Given the description of an element on the screen output the (x, y) to click on. 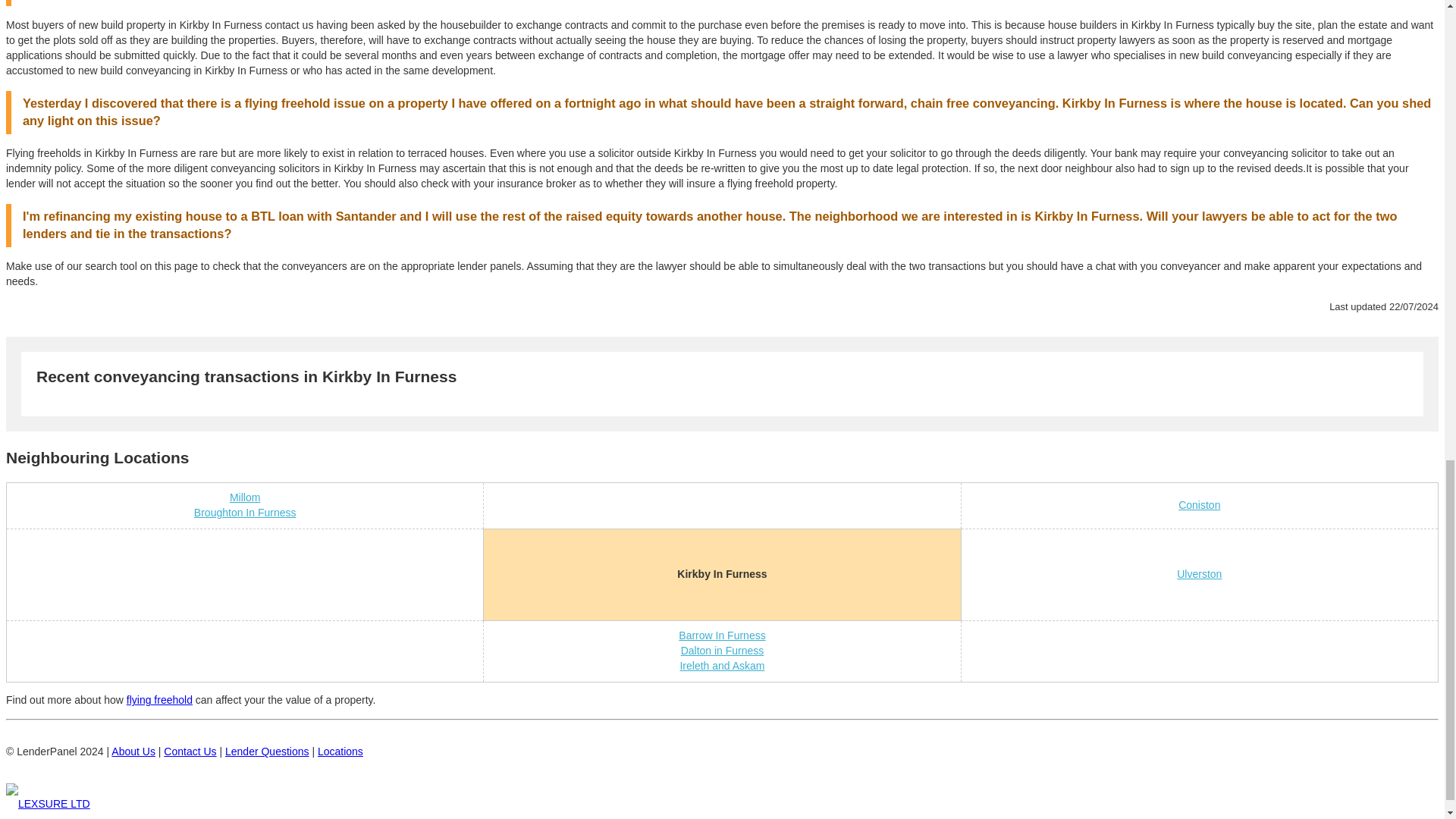
About Us (133, 751)
Locations (339, 751)
Contact Us (189, 751)
Coniston (1198, 504)
Dalton in Furness (722, 650)
Ireleth and Askam (721, 665)
Millom (245, 497)
Broughton In Furness (245, 512)
Barrow In Furness (721, 635)
flying freehold (159, 699)
Lender Questions (266, 751)
Ulverston (1198, 573)
